Given the description of an element on the screen output the (x, y) to click on. 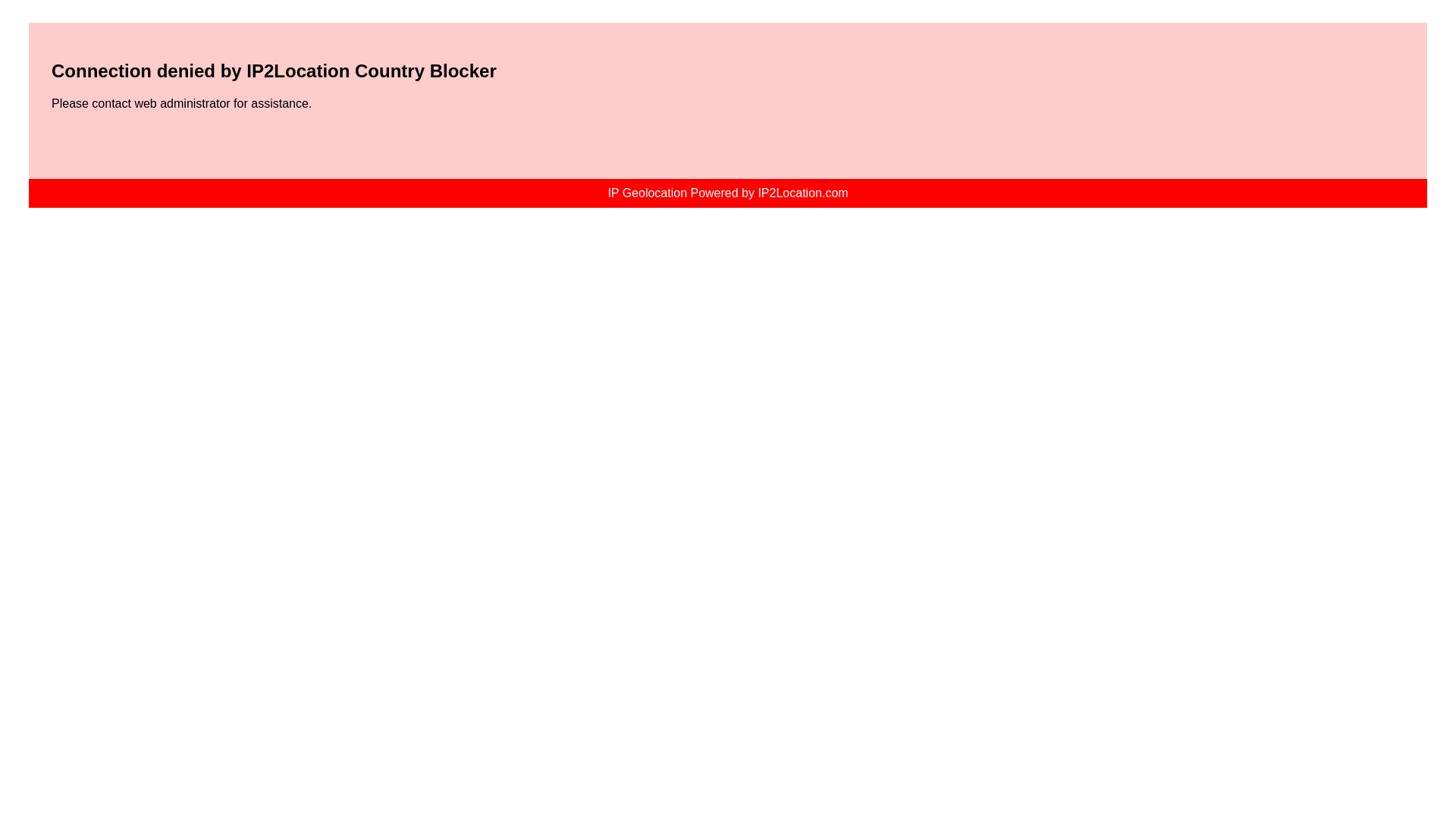
IP Geolocation Powered by IP2Location.com (727, 192)
